Given the description of an element on the screen output the (x, y) to click on. 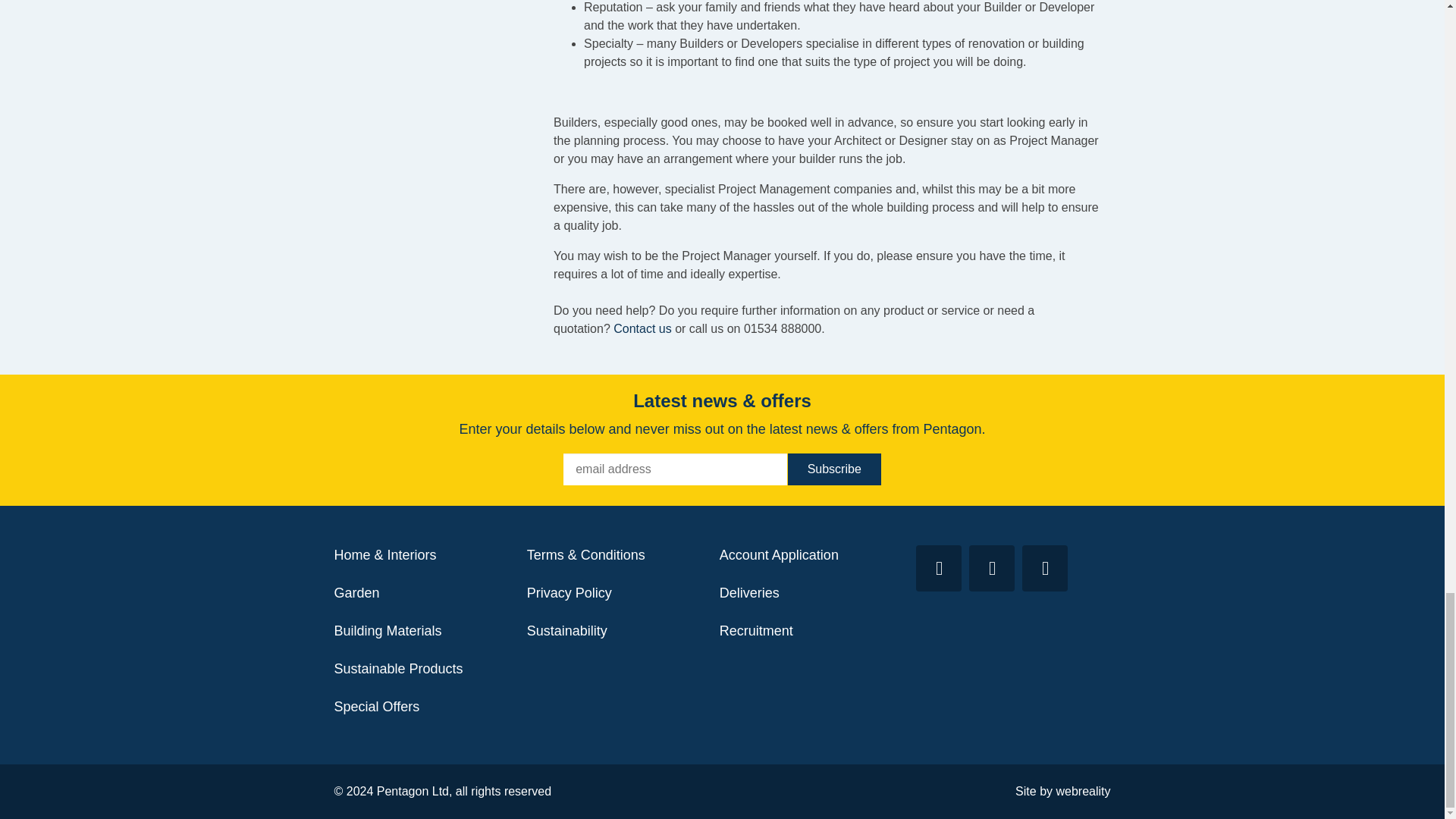
Twitter (937, 568)
YouTube (1044, 568)
Contact Us (641, 328)
Facebook (991, 568)
Subscribe (833, 469)
